Given the description of an element on the screen output the (x, y) to click on. 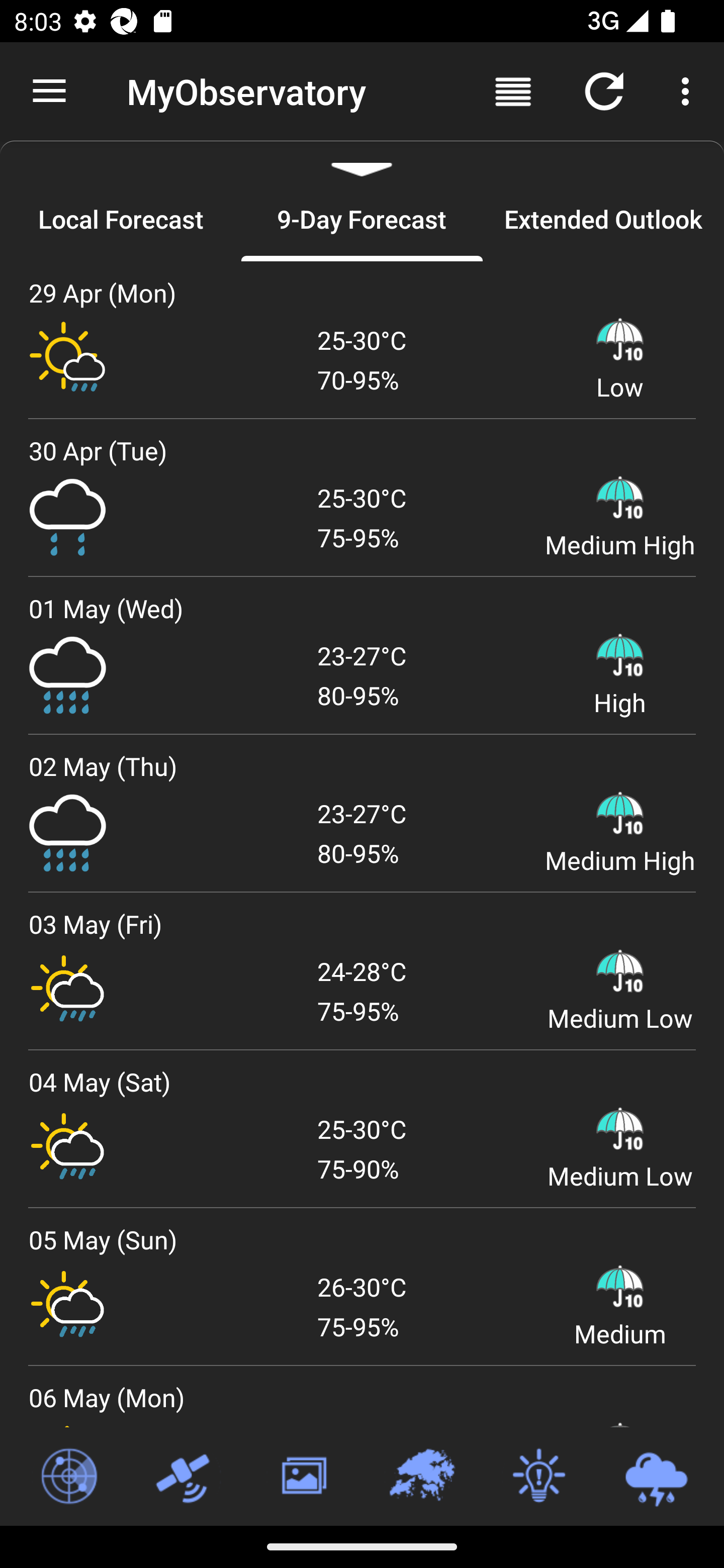
Navigate up (49, 91)
Vertical layout (512, 90)
Refresh (604, 90)
More options (688, 90)
Collapse (362, 159)
Local Forecast (120, 219)
Extended Outlook (603, 219)
Radar Images (68, 1476)
Satellite Images (185, 1476)
Weather Photos (302, 1476)
Regional Weather (420, 1476)
Weather Tips (537, 1476)
Loc-based Rain & Lightning Forecast (655, 1476)
